Given the description of an element on the screen output the (x, y) to click on. 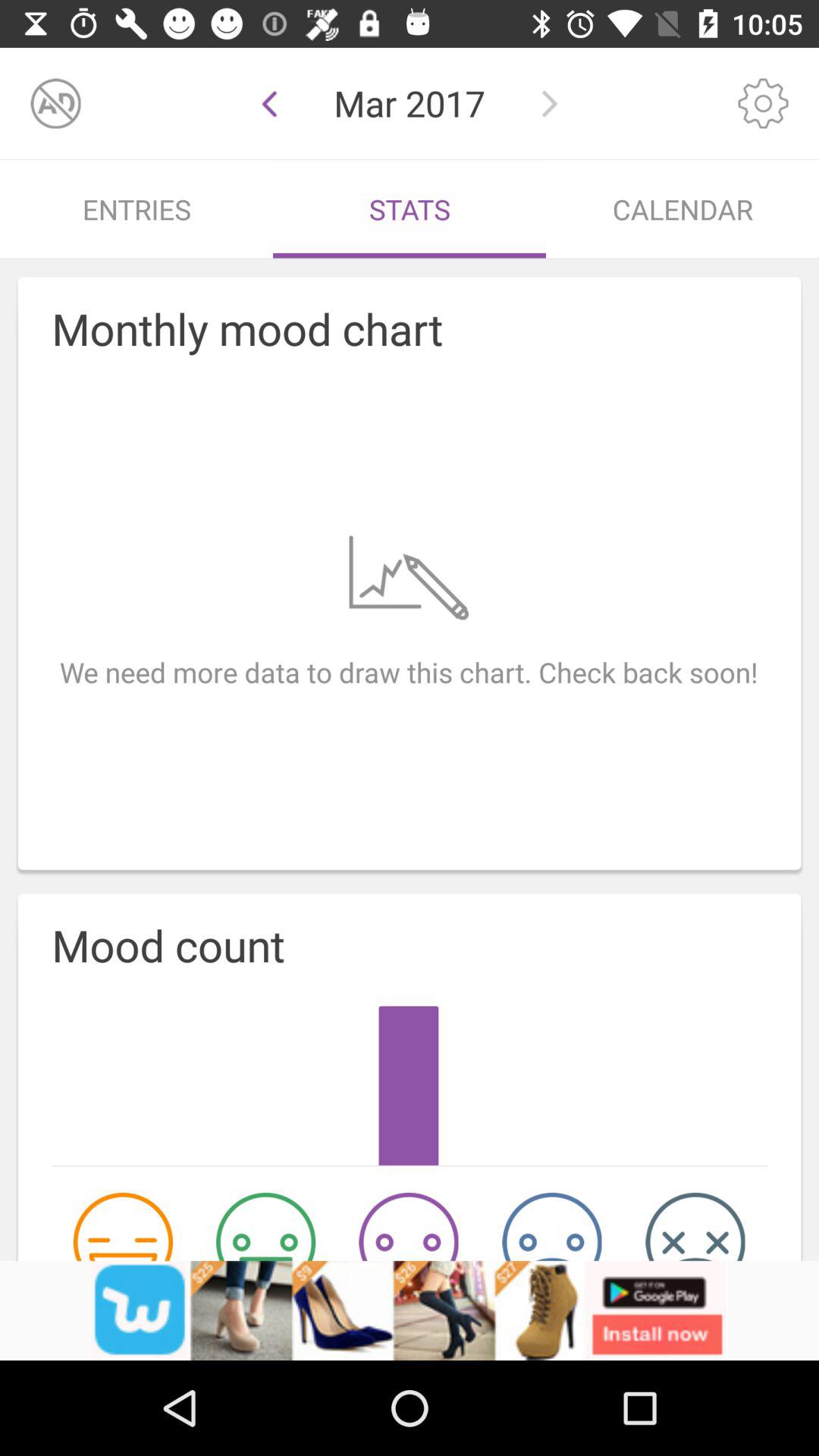
menu page (763, 103)
